Given the description of an element on the screen output the (x, y) to click on. 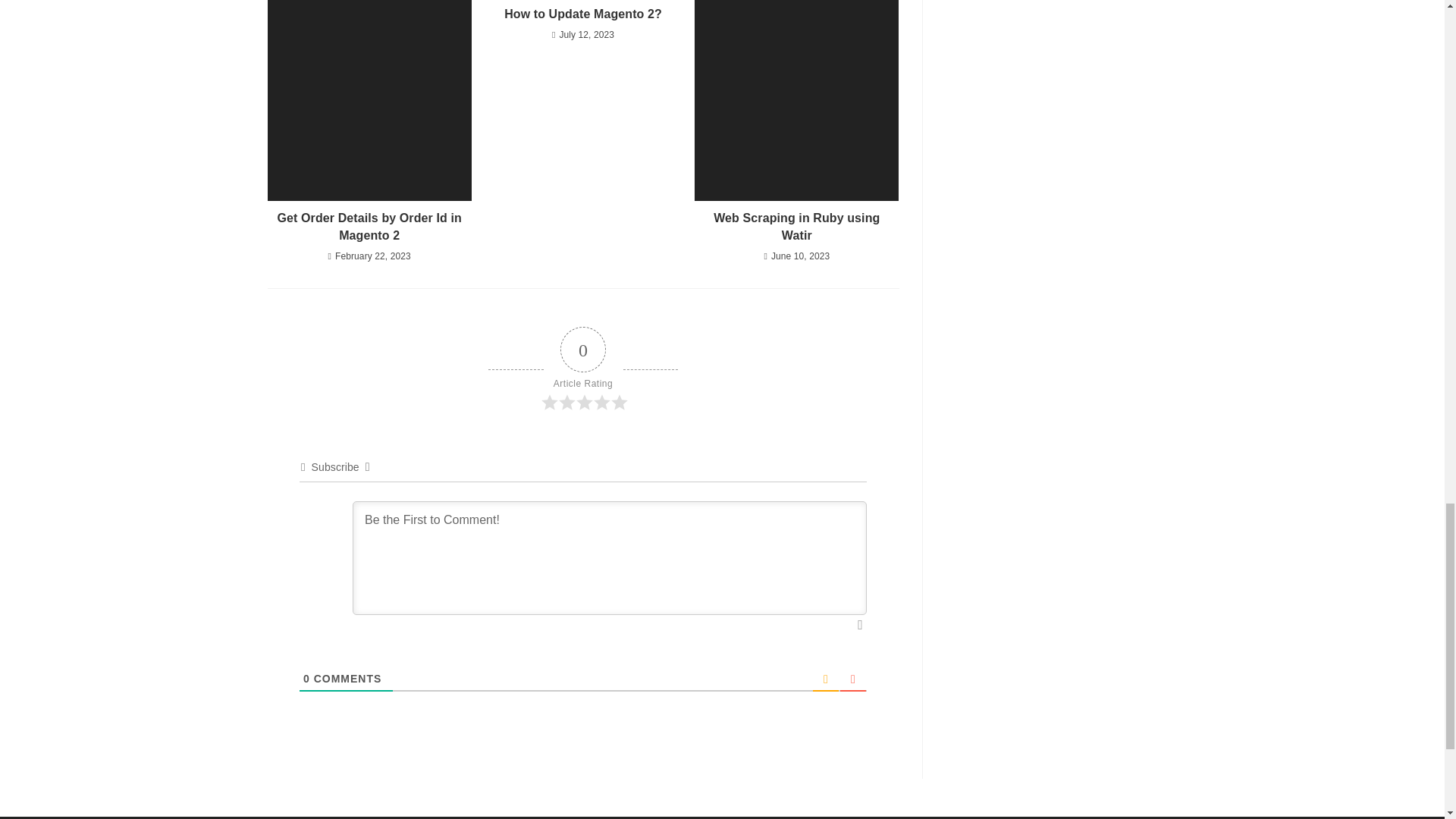
0 (306, 678)
